Given the description of an element on the screen output the (x, y) to click on. 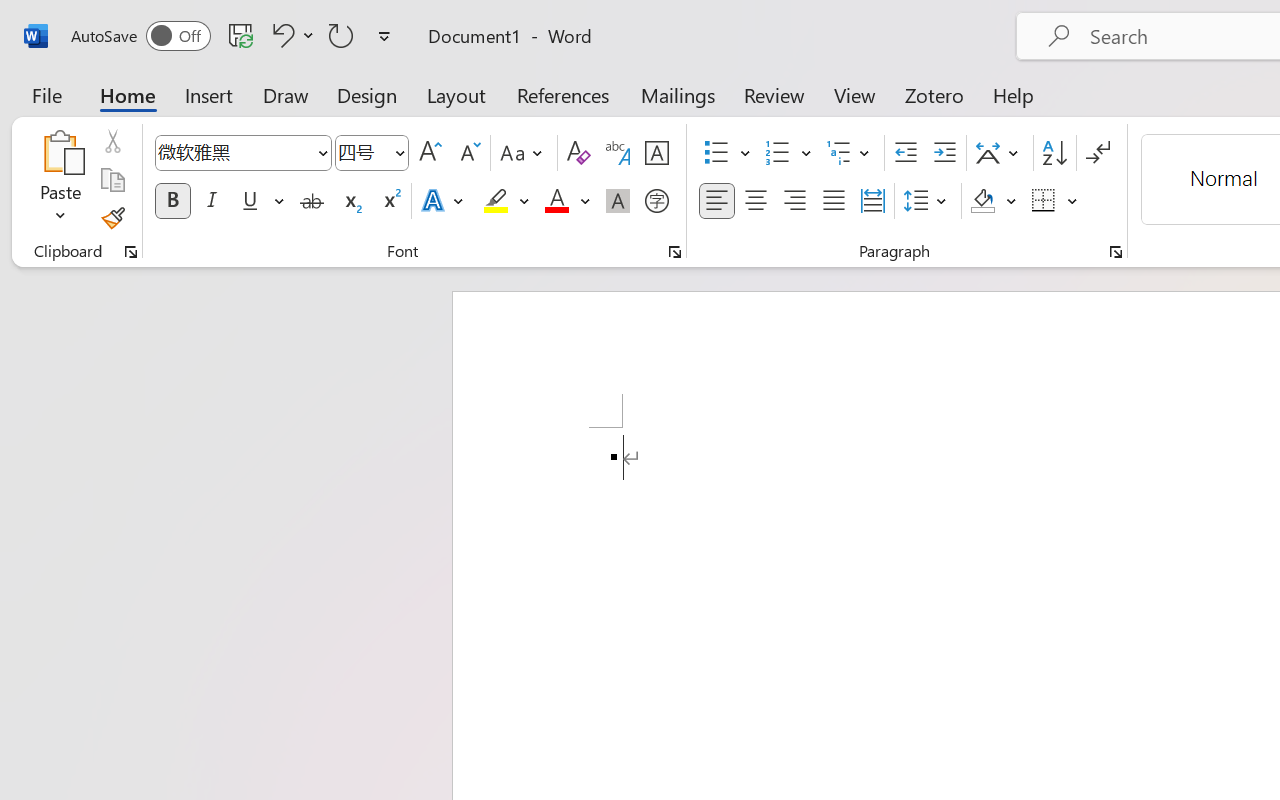
Undo <ApplyStyleToDoc>b__0 (290, 35)
